Given the description of an element on the screen output the (x, y) to click on. 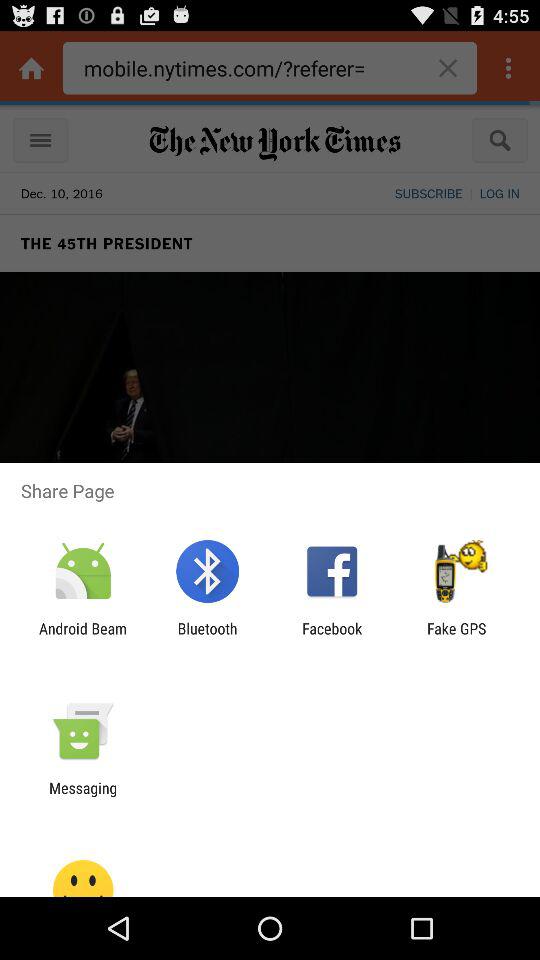
scroll to android beam (83, 637)
